Given the description of an element on the screen output the (x, y) to click on. 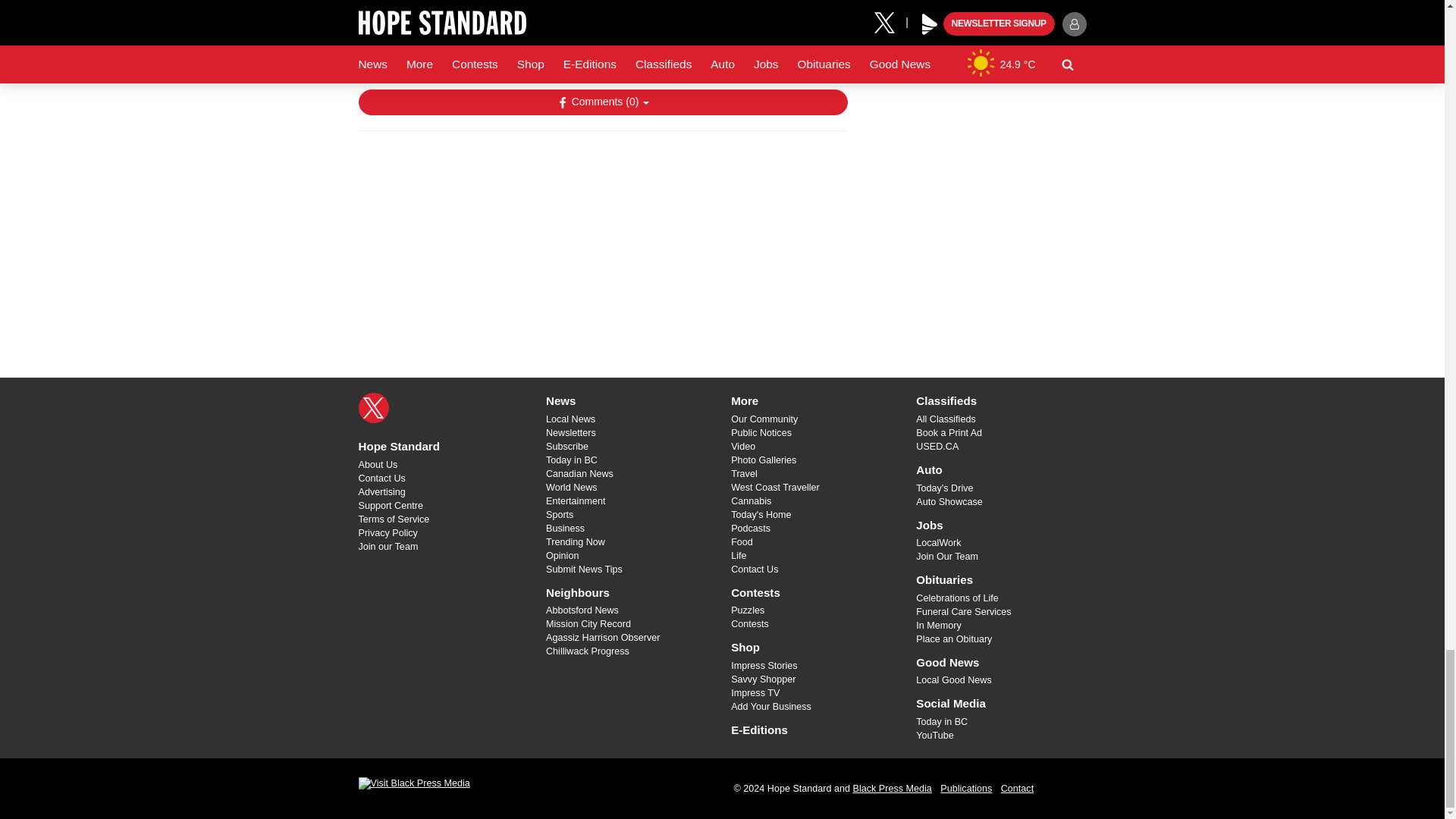
Show Comments (602, 102)
X (373, 408)
3rd party ad content (602, 240)
